Given the description of an element on the screen output the (x, y) to click on. 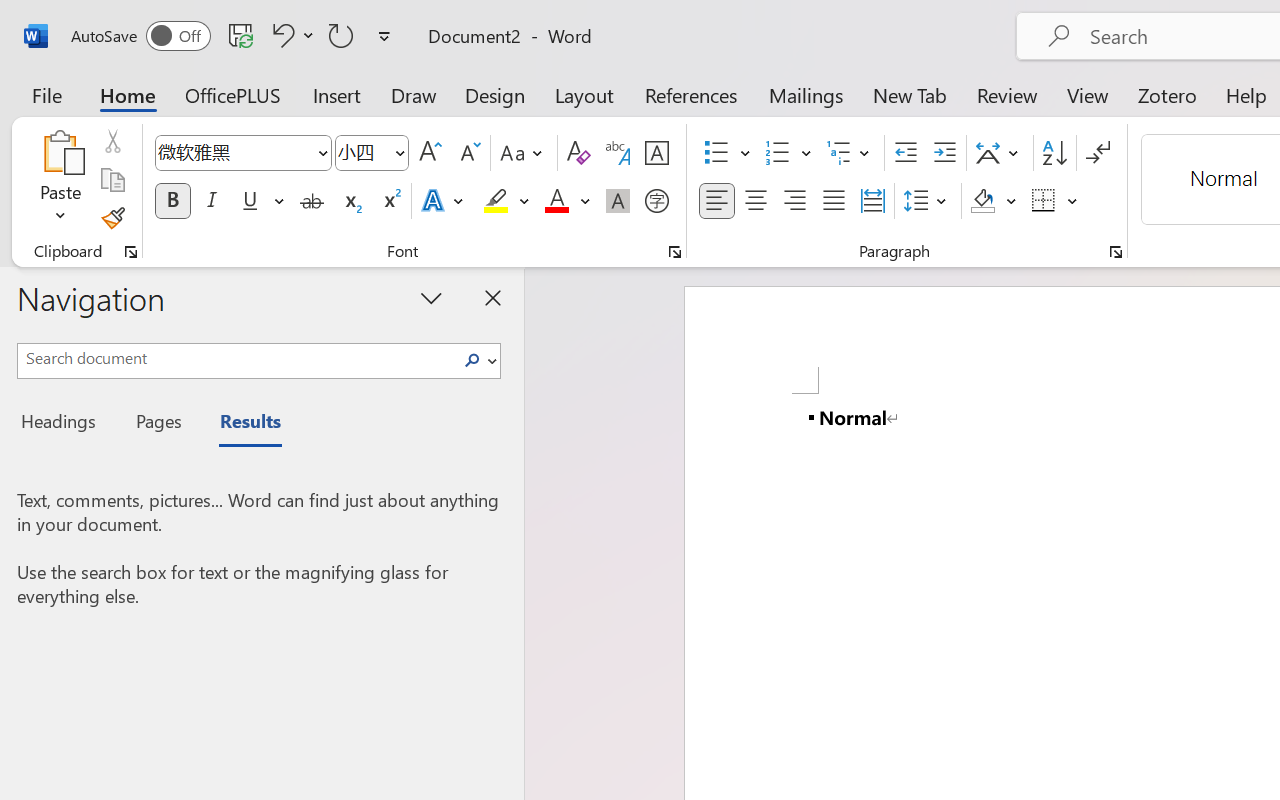
Phonetic Guide... (618, 153)
AutoSave (140, 35)
Task Pane Options (431, 297)
Copy (112, 179)
Class: NetUIImage (471, 360)
Office Clipboard... (131, 252)
Save (241, 35)
Text Effects and Typography (444, 201)
Search (478, 360)
